Given the description of an element on the screen output the (x, y) to click on. 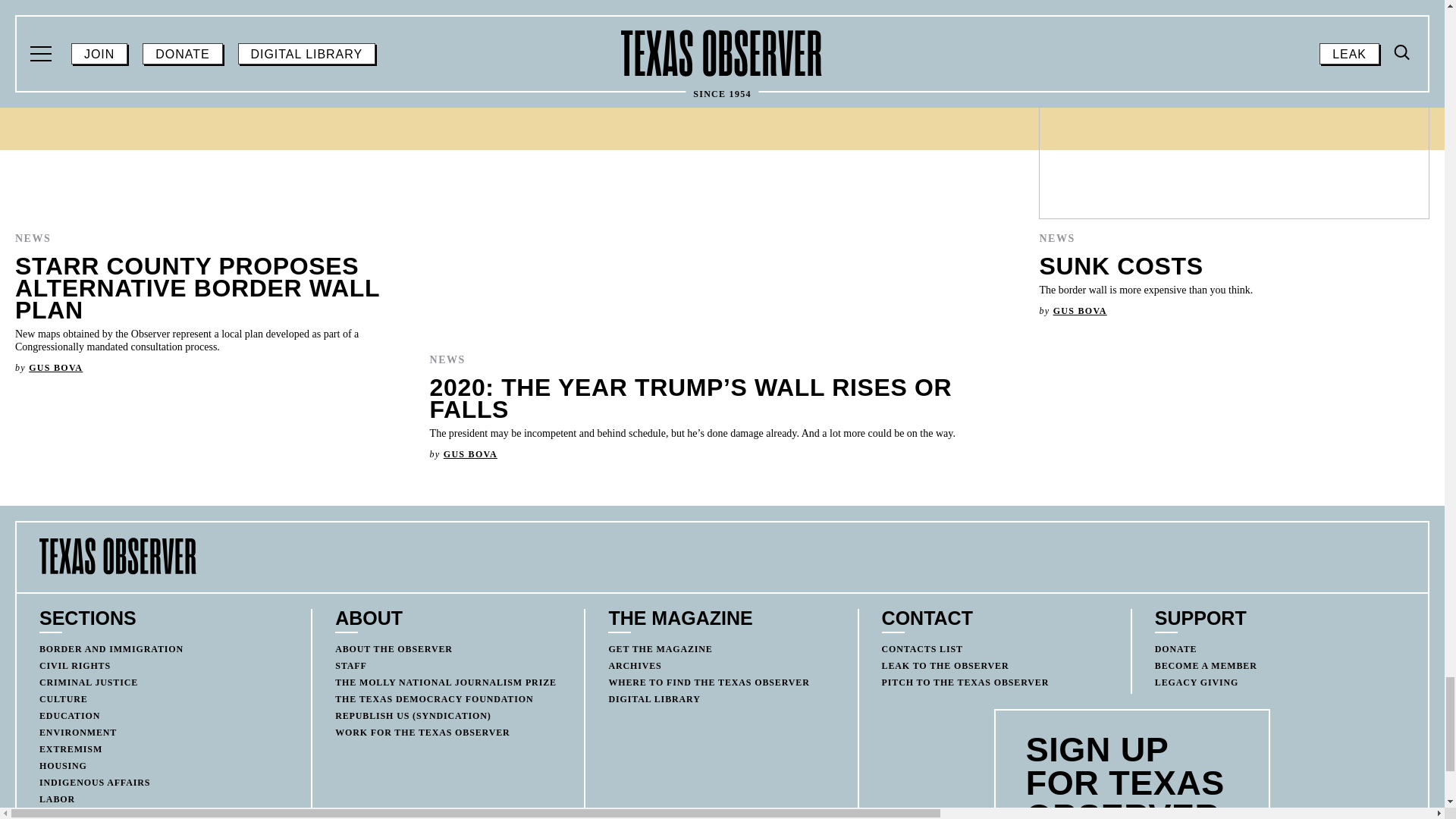
Post by Gus Bova (1079, 310)
Post by Gus Bova (470, 453)
Post by Gus Bova (55, 367)
